Given the description of an element on the screen output the (x, y) to click on. 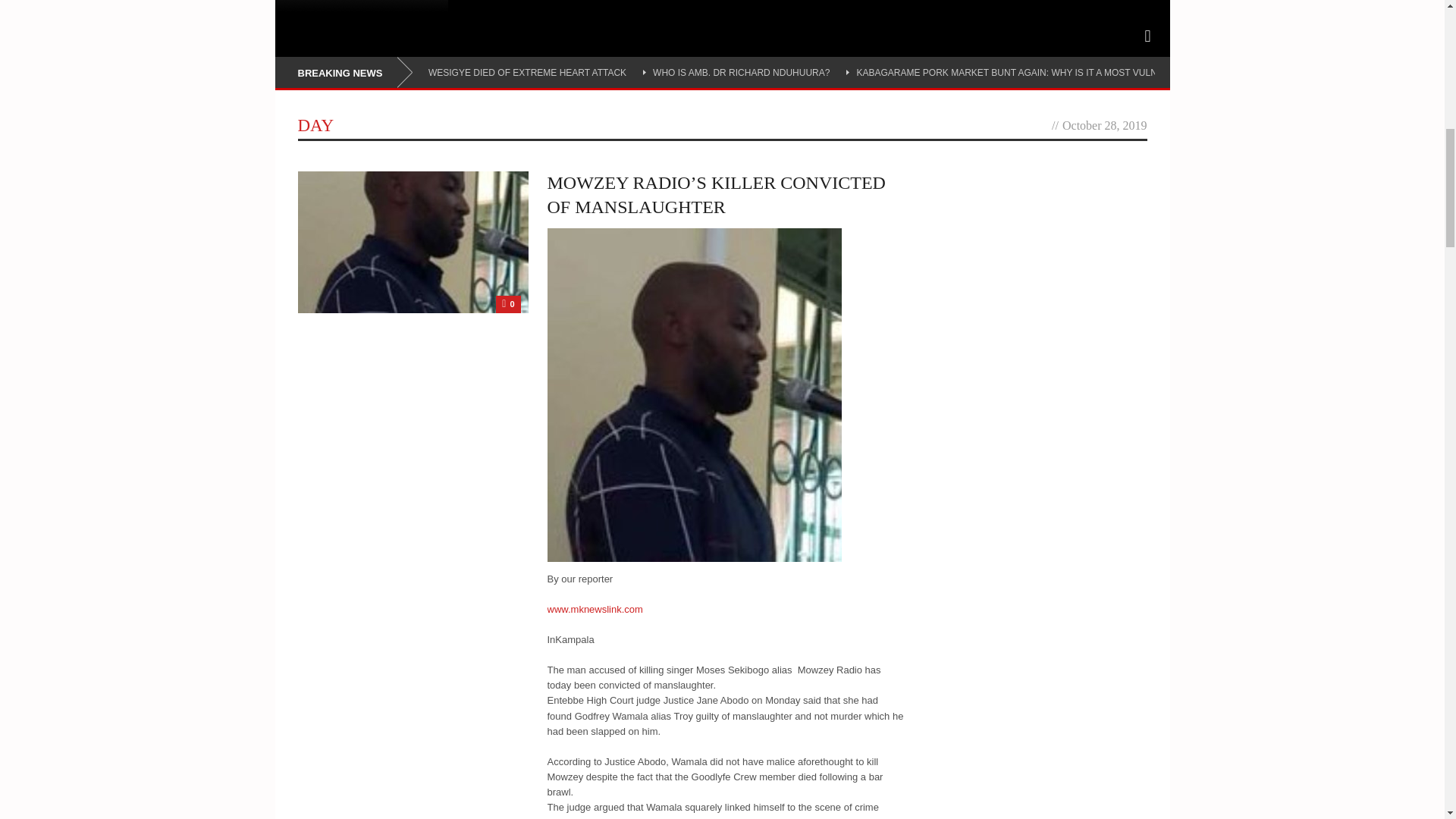
WHO IS AMB. DR RICHARD NDUHUURA? (740, 72)
www.mknewslink.com (595, 609)
SPORTS (309, 6)
AGRICULTURE (395, 6)
MRS REV. CAN BOBS MWESIGYE DIED OF EXTREME HEART ATTACK (475, 72)
